Given the description of an element on the screen output the (x, y) to click on. 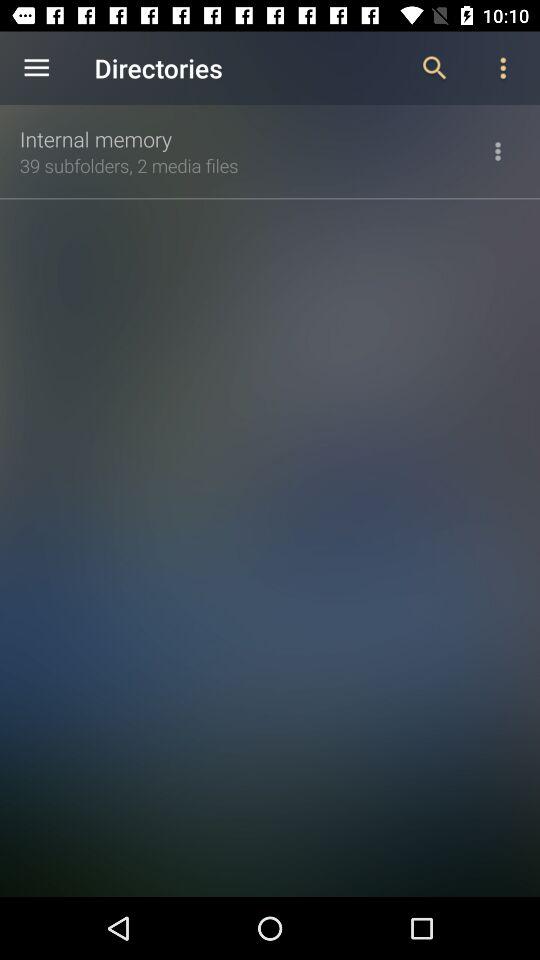
turn on icon to the right of 39 subfolders 2 (498, 151)
